Given the description of an element on the screen output the (x, y) to click on. 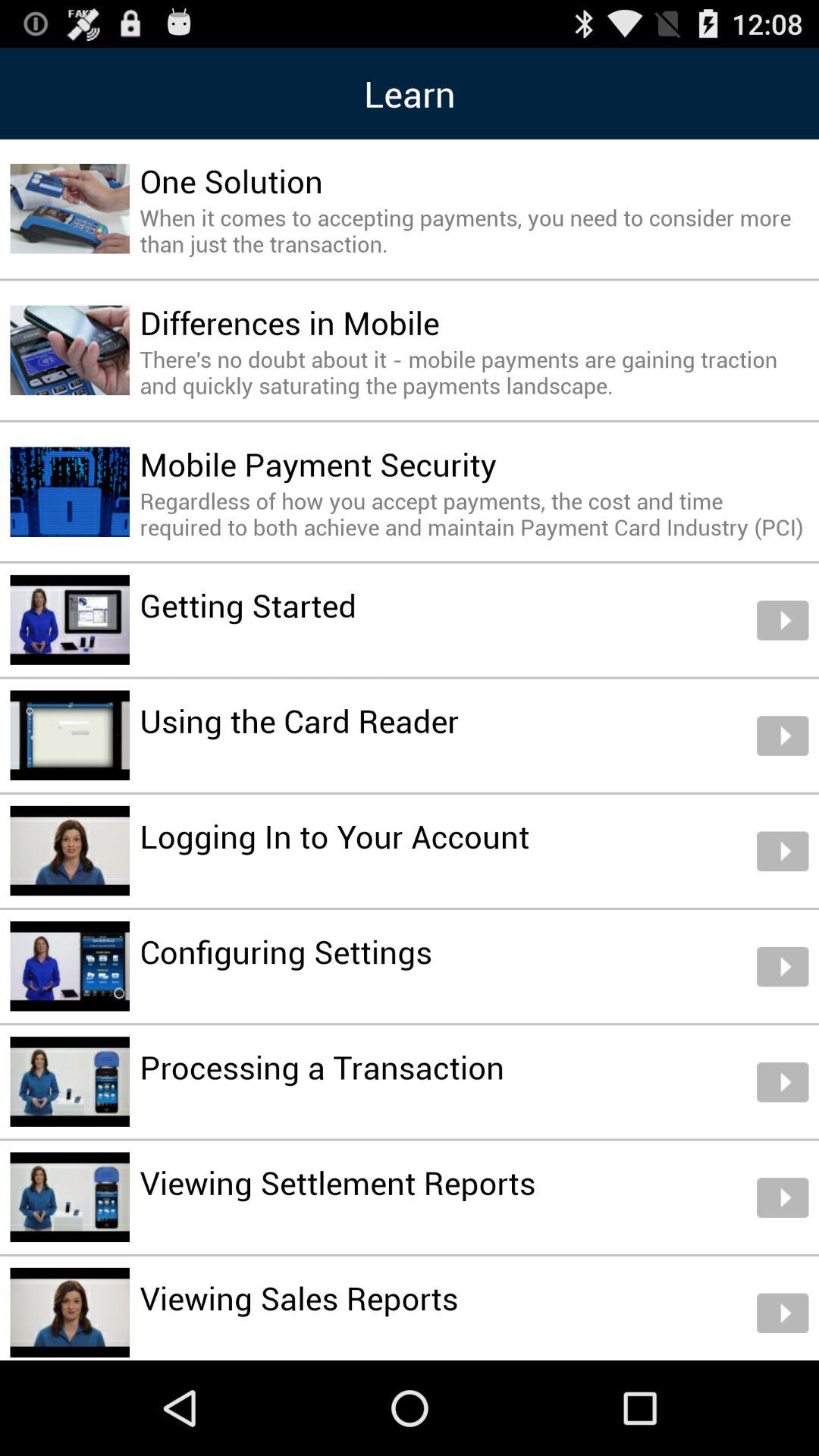
tap the icon above the differences in mobile (473, 230)
